Given the description of an element on the screen output the (x, y) to click on. 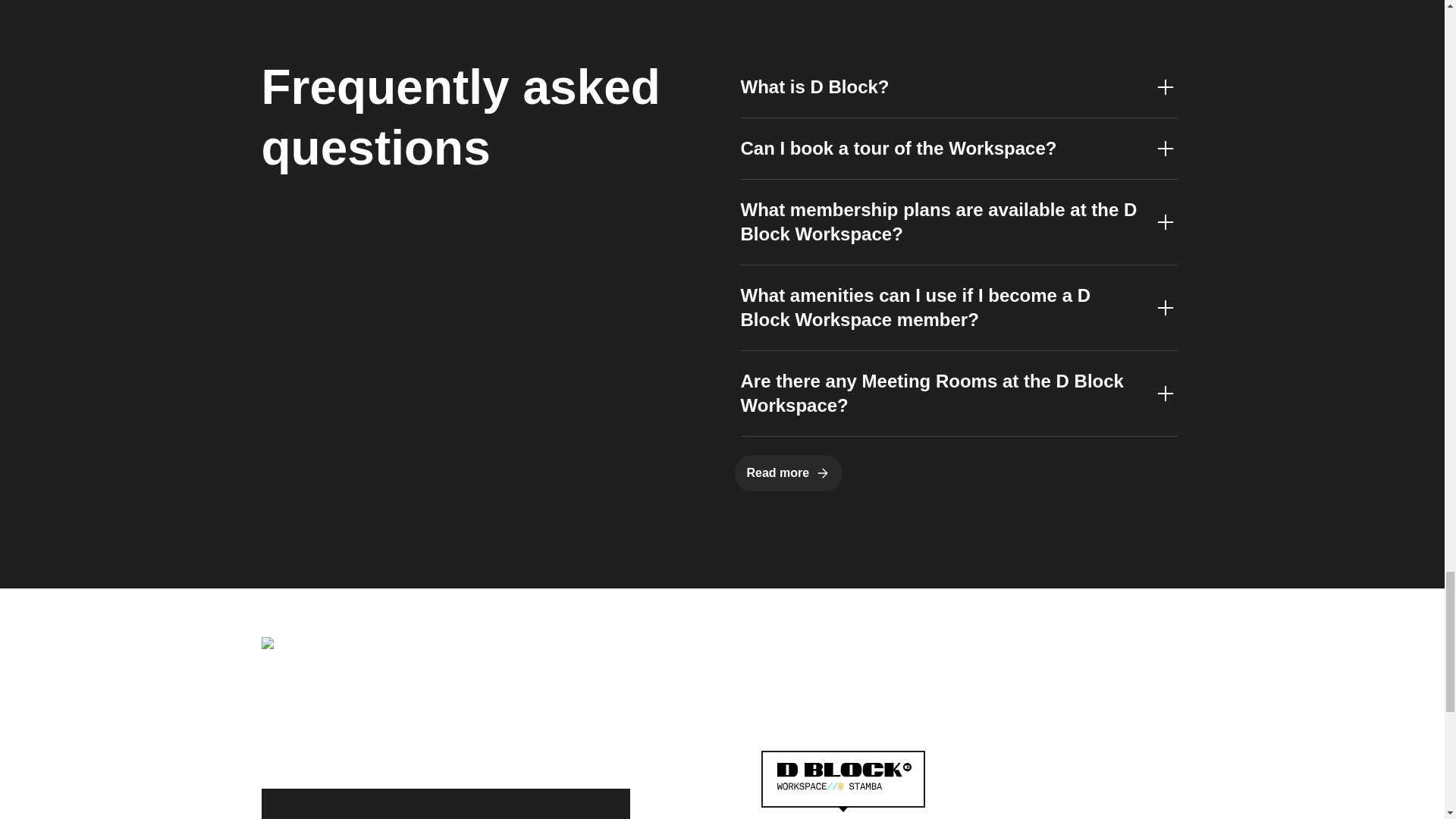
Are there any Meeting Rooms at the D Block Workspace? (957, 393)
Can I book a tour of the Workspace? (957, 148)
Read more (788, 473)
What is D Block? (957, 86)
